Given the description of an element on the screen output the (x, y) to click on. 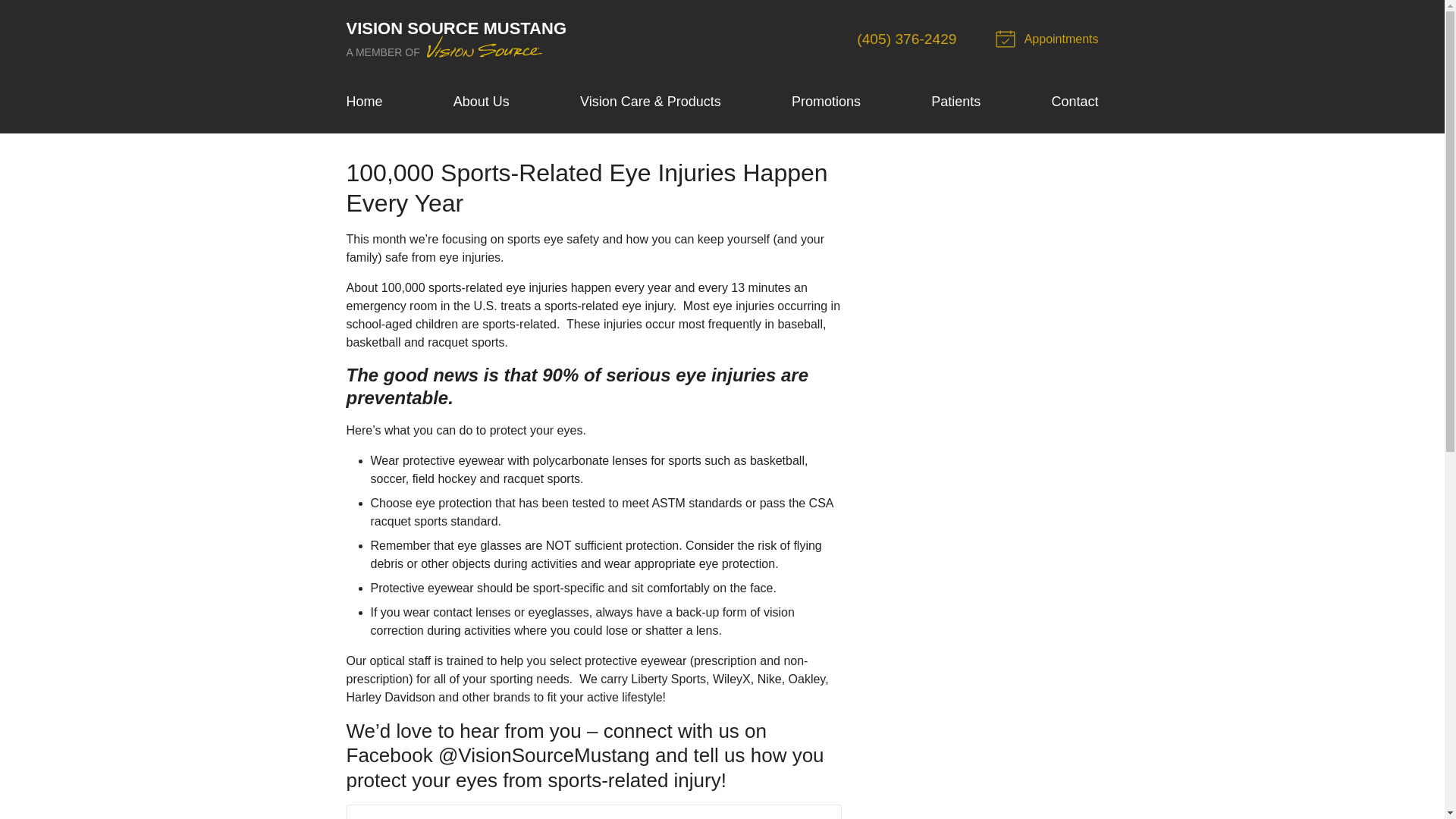
Request Appointment (1048, 39)
Contact (1074, 101)
Appointments (1048, 39)
Home (456, 39)
About Us (363, 101)
Call practice (480, 101)
Patients (906, 38)
Promotions (955, 101)
Vision Source Mustang (826, 101)
